Given the description of an element on the screen output the (x, y) to click on. 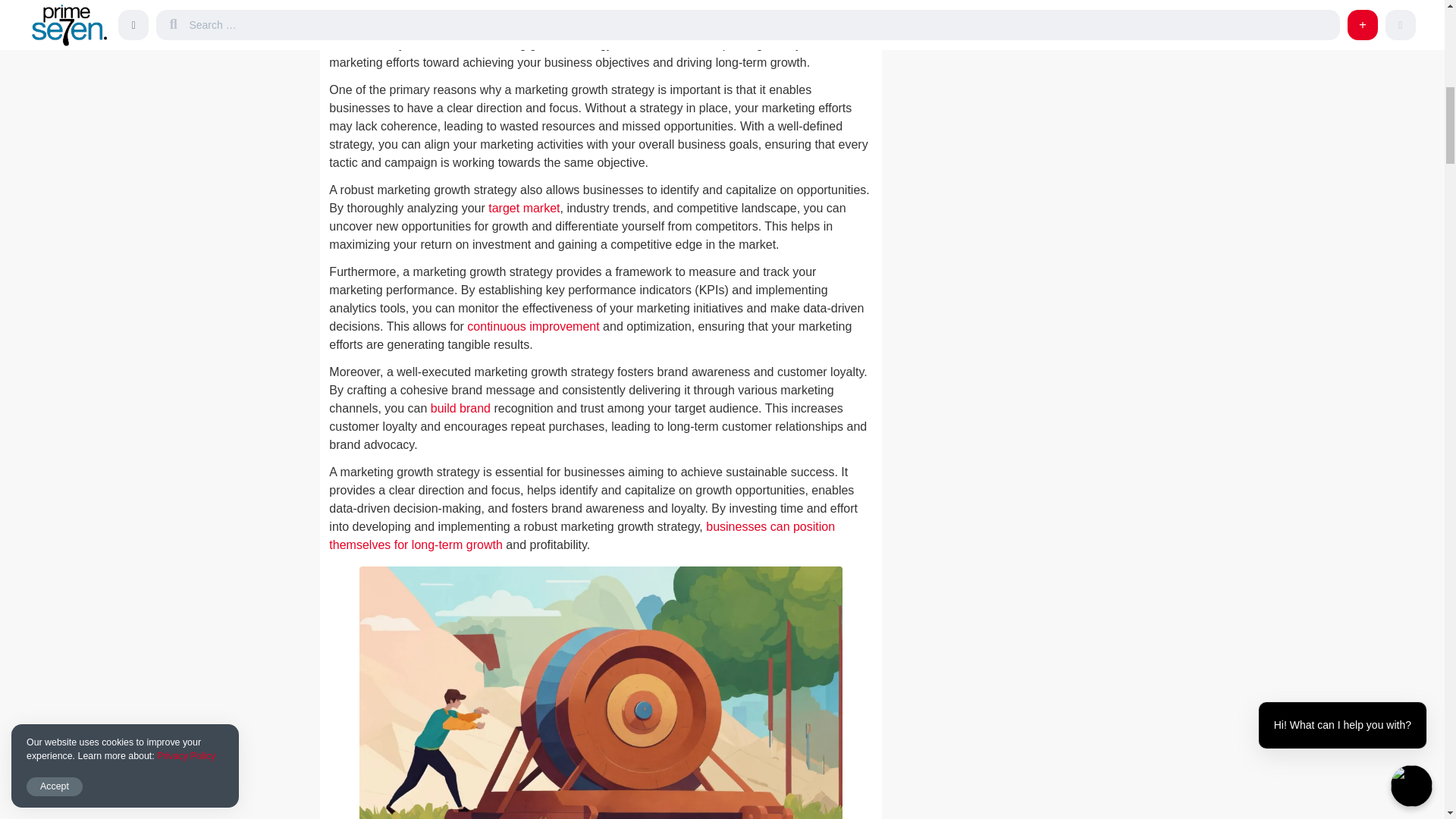
Create-an-4-color-illustration-featuring-a-massiv (600, 692)
